Given the description of an element on the screen output the (x, y) to click on. 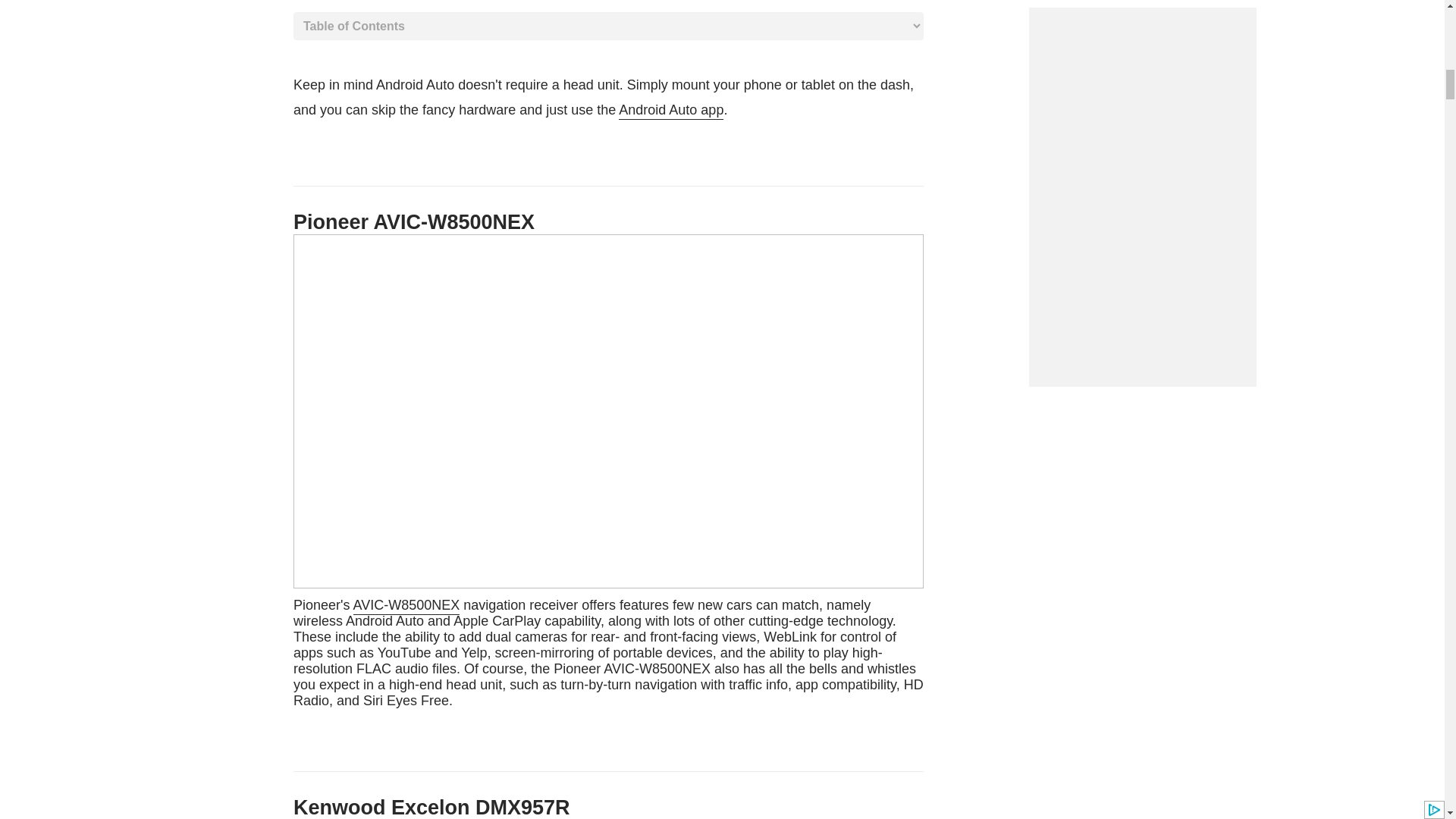
Buy It Now (608, 652)
